Given the description of an element on the screen output the (x, y) to click on. 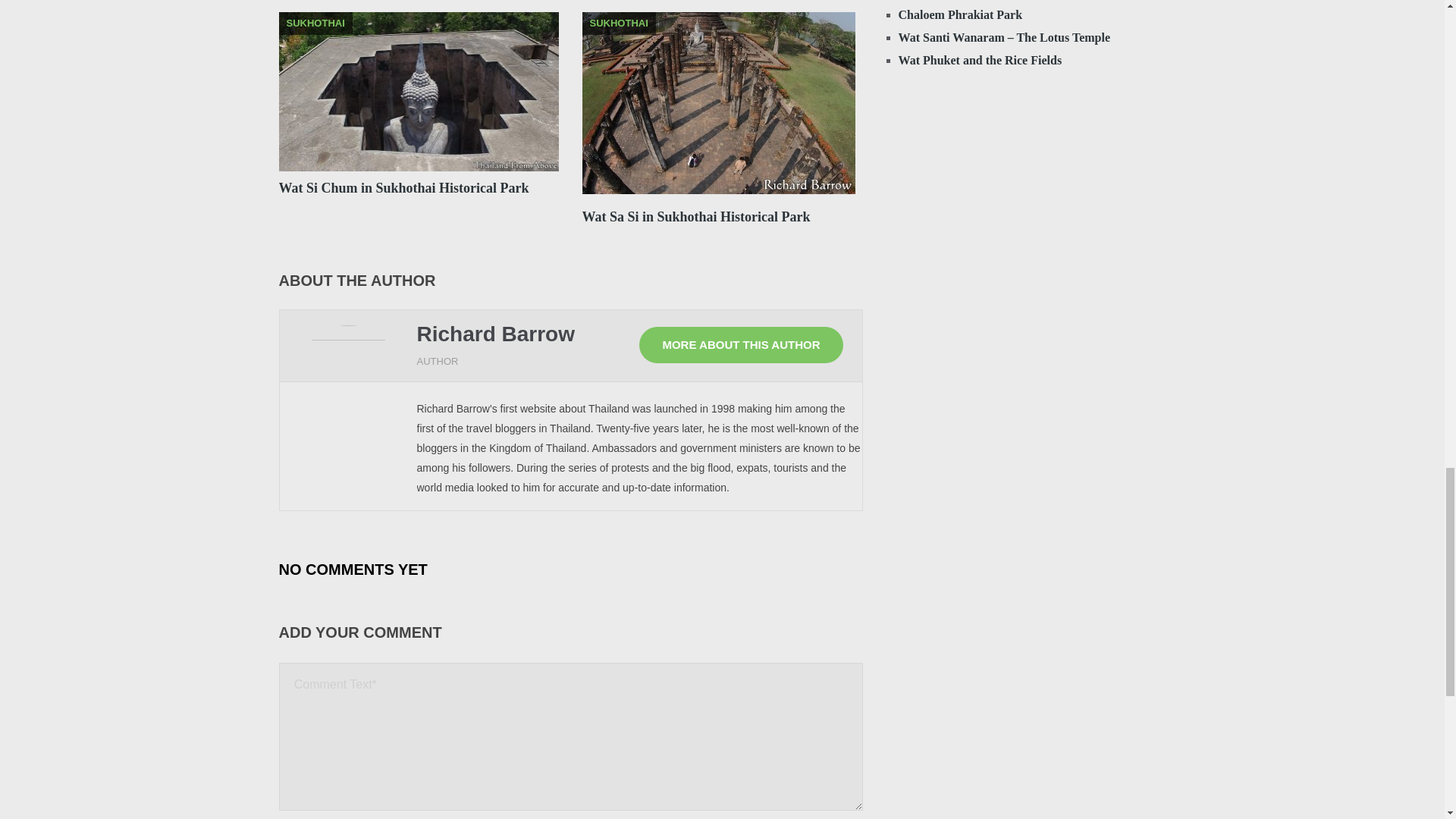
Wat Sa Si in Sukhothai Historical Park (696, 216)
Wat Si Chum in Sukhothai Historical Park (419, 91)
Wat Sa Si in Sukhothai Historical Park (719, 105)
Wat Si Chum in Sukhothai Historical Park (404, 187)
